Given the description of an element on the screen output the (x, y) to click on. 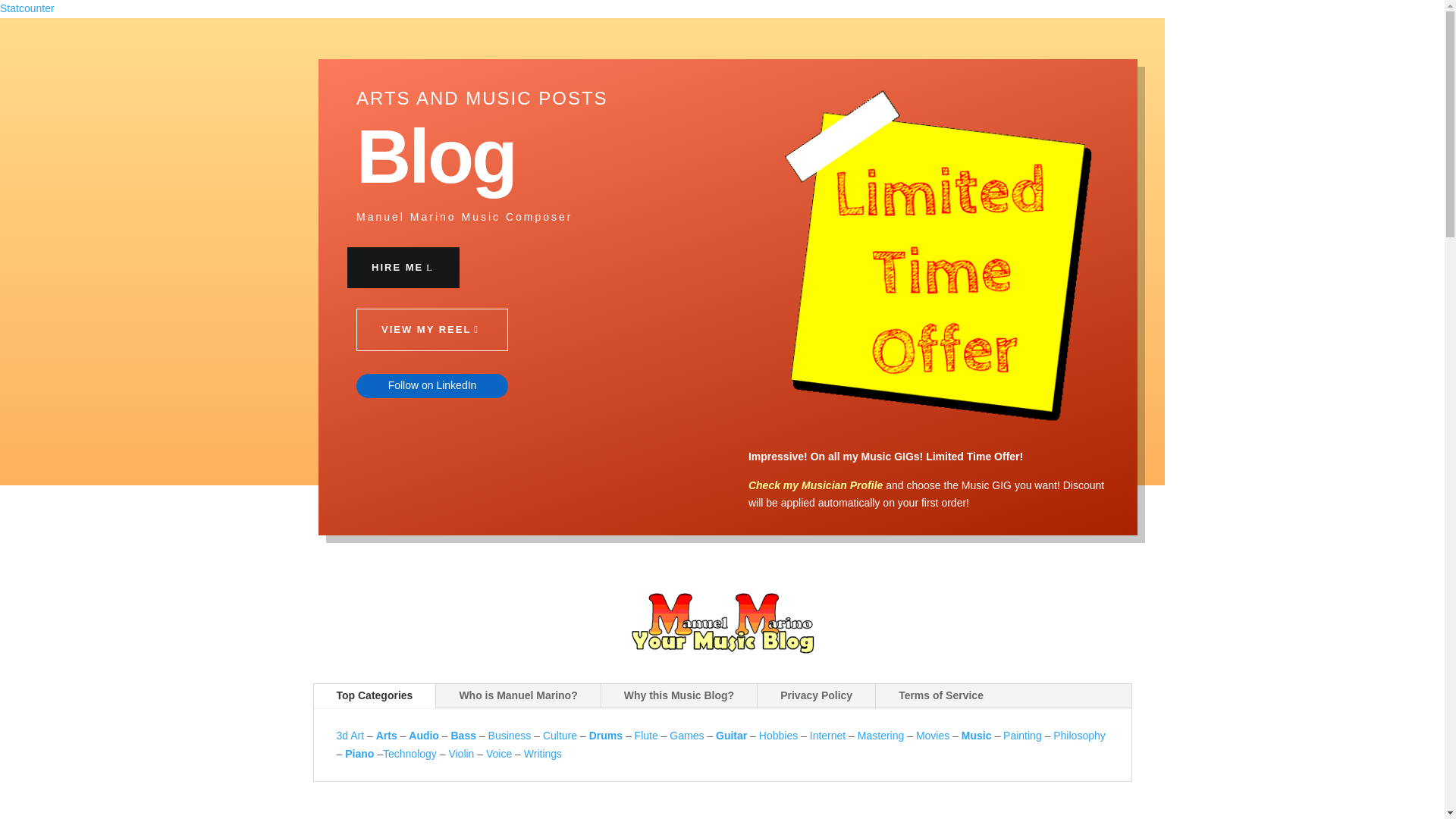
Violin (461, 753)
Audio (424, 735)
Hobbies (777, 735)
Guitar (731, 735)
Internet (827, 735)
Statcounter (27, 8)
Why this Music Blog? (679, 695)
Movies (932, 735)
Technology (409, 753)
Flute (646, 735)
Who is Manuel Marino? (517, 695)
Bass (462, 735)
manuelmarino-logo (721, 622)
Writings (543, 753)
Painting (1022, 735)
